Given the description of an element on the screen output the (x, y) to click on. 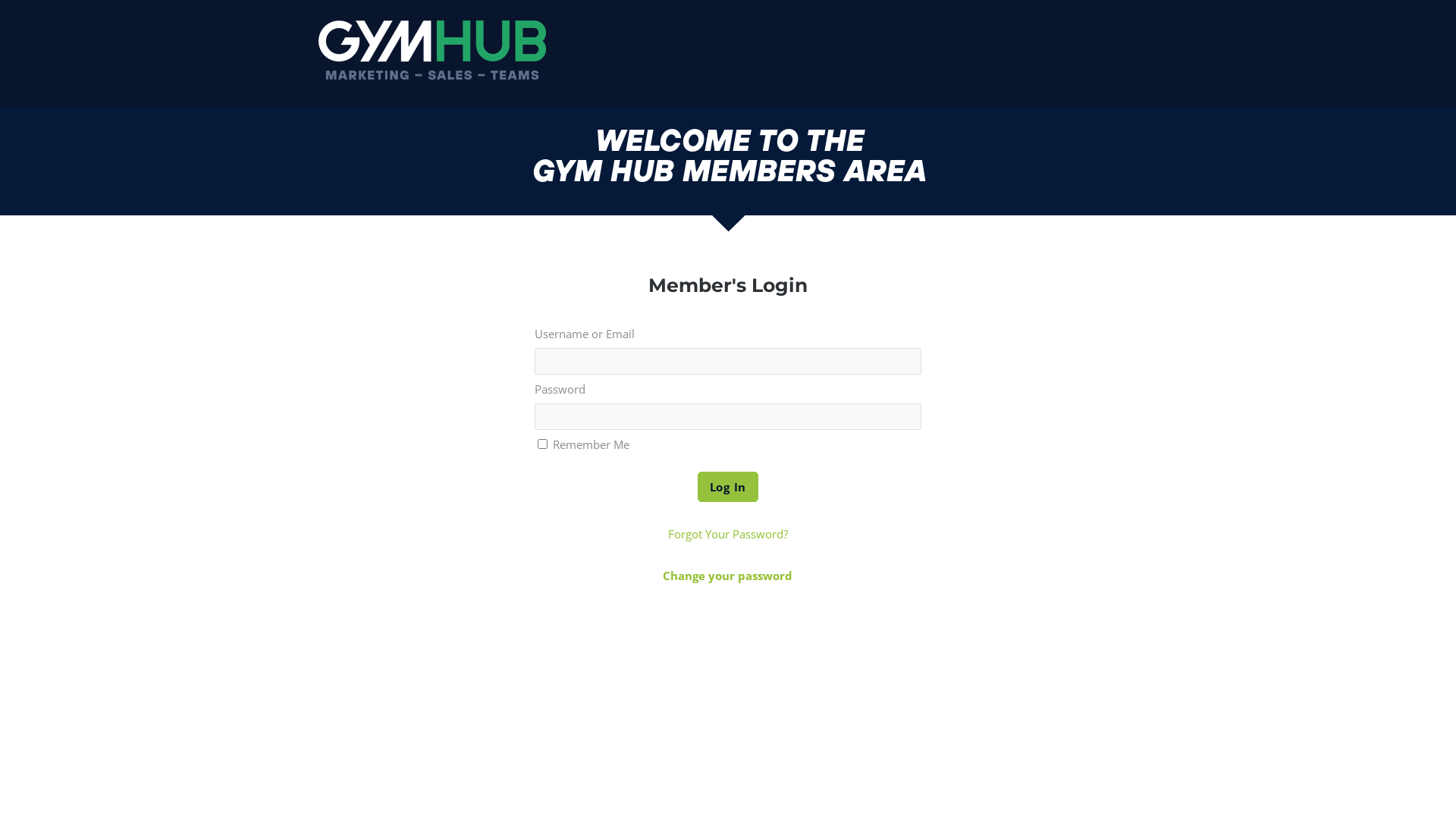
Change your password Element type: text (727, 575)
Log In Element type: text (728, 486)
Forgot Your Password? Element type: text (727, 533)
